Given the description of an element on the screen output the (x, y) to click on. 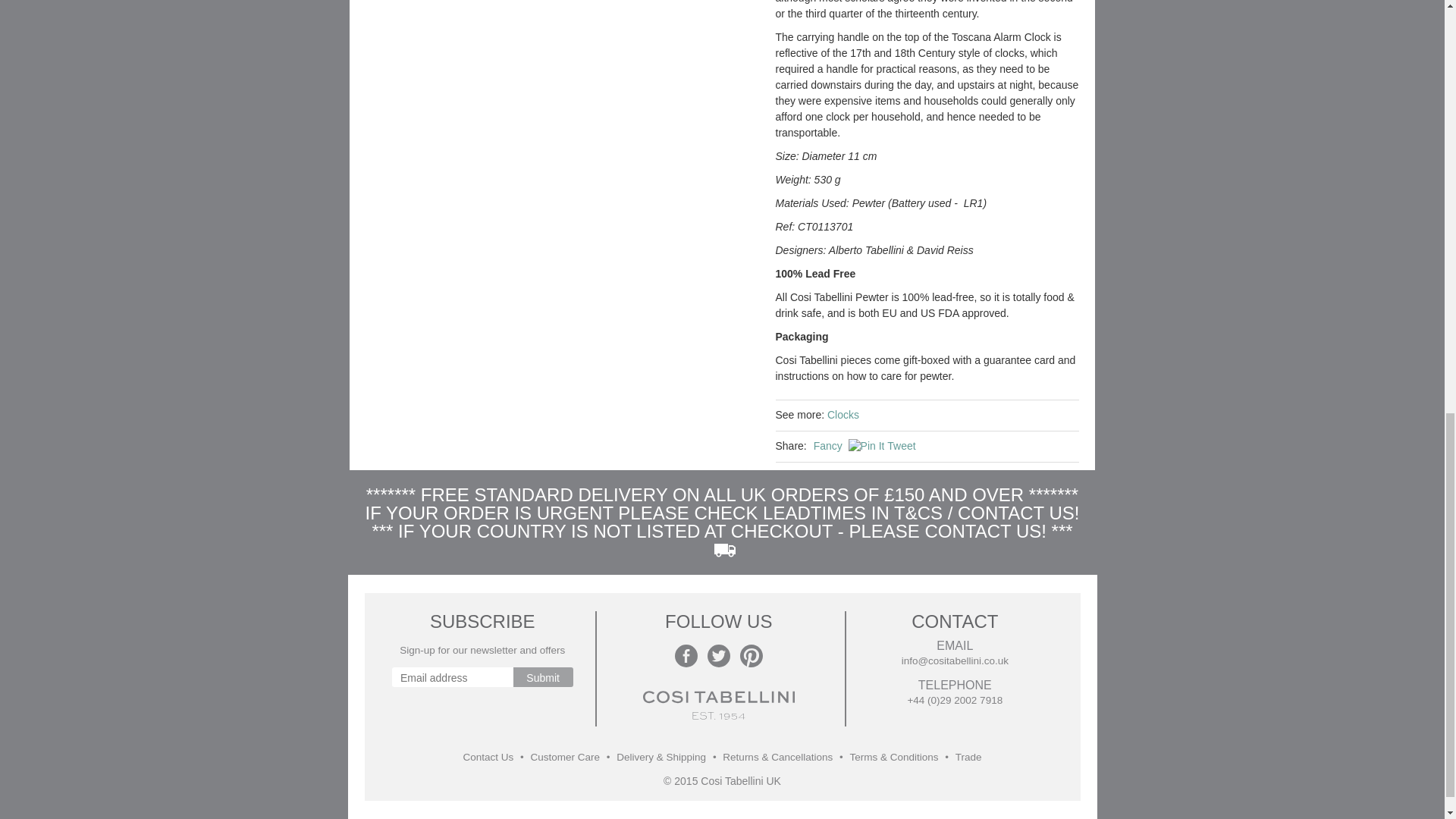
Submit (543, 677)
Pin It (866, 446)
Clocks (843, 414)
